Given the description of an element on the screen output the (x, y) to click on. 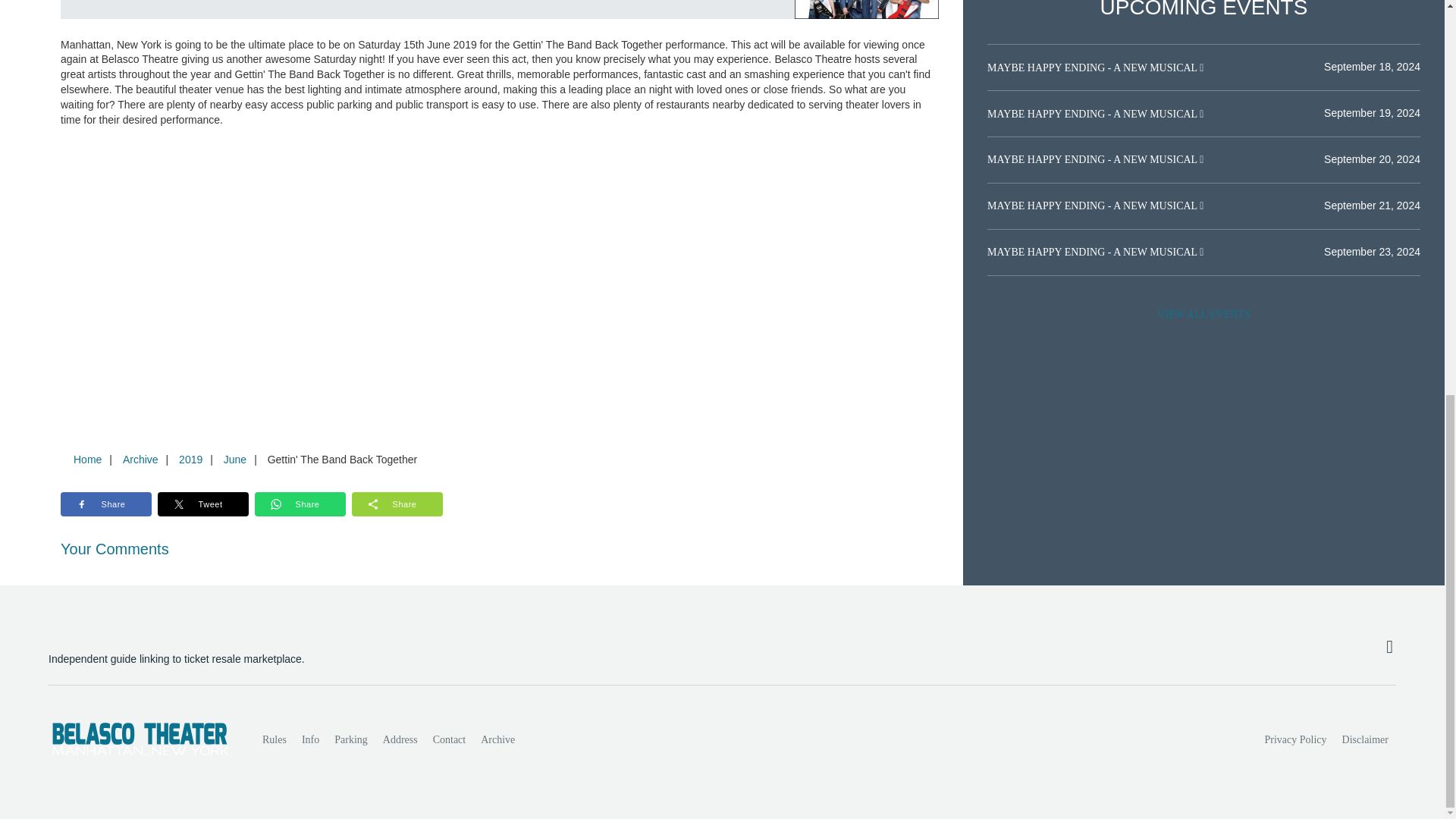
Info (310, 739)
June (234, 459)
Rules (274, 739)
Contact (449, 739)
Archive (140, 459)
Home (87, 459)
Privacy Policy (1296, 739)
VIEW ALL EVENTS (1203, 314)
Parking (350, 739)
Gettin' The Band Back Together at Belasco Theatre (866, 9)
Archive (497, 739)
Address (400, 739)
2019 (190, 459)
Disclaimer (1365, 739)
